Given the description of an element on the screen output the (x, y) to click on. 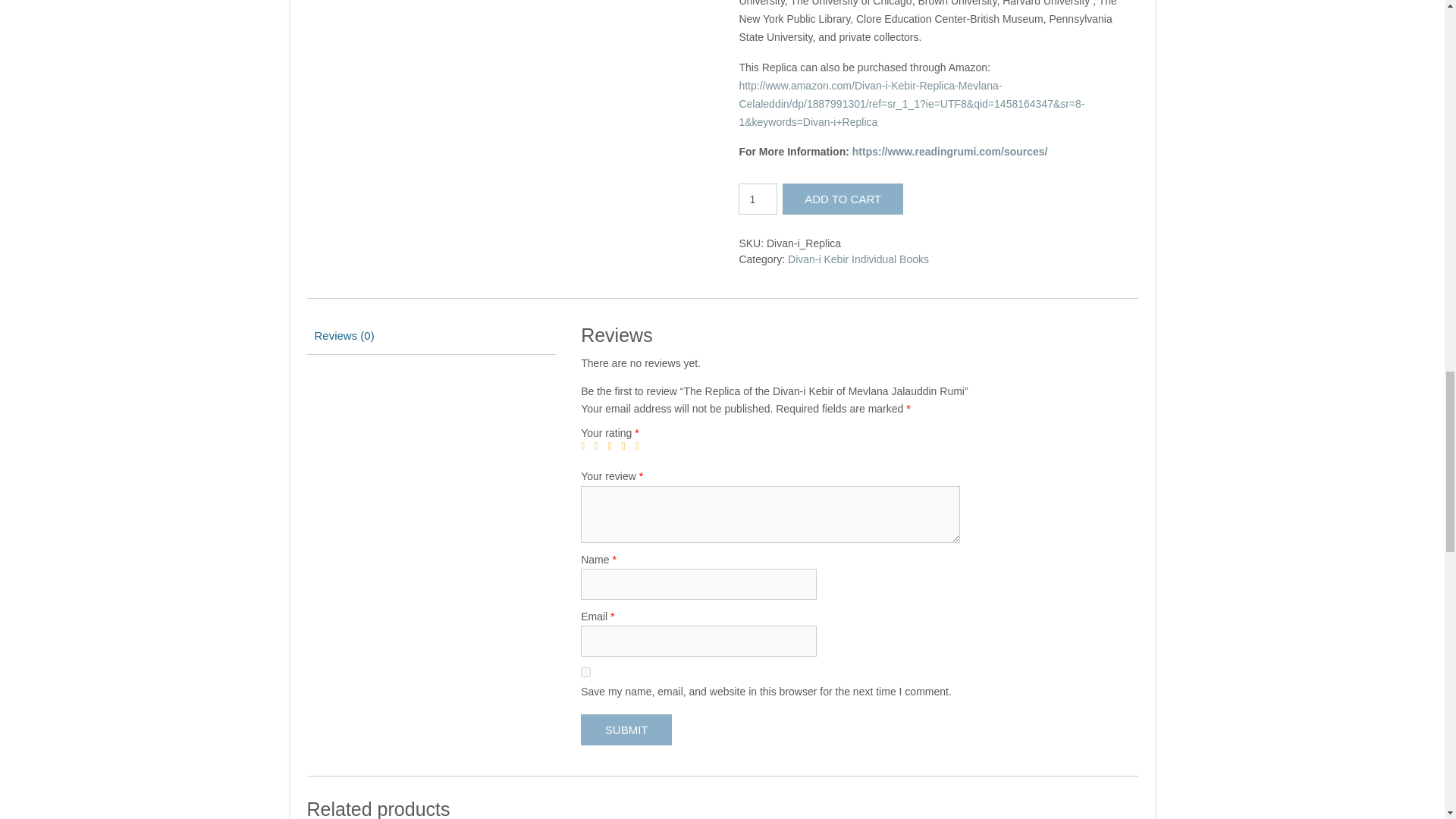
2 (599, 446)
1 (757, 198)
1 (585, 446)
Submit (625, 729)
ADD TO CART (842, 198)
yes (585, 672)
Divan-i Kebir Individual Books (857, 259)
5 (640, 446)
3 (613, 446)
4 (626, 446)
Submit (625, 729)
